Given the description of an element on the screen output the (x, y) to click on. 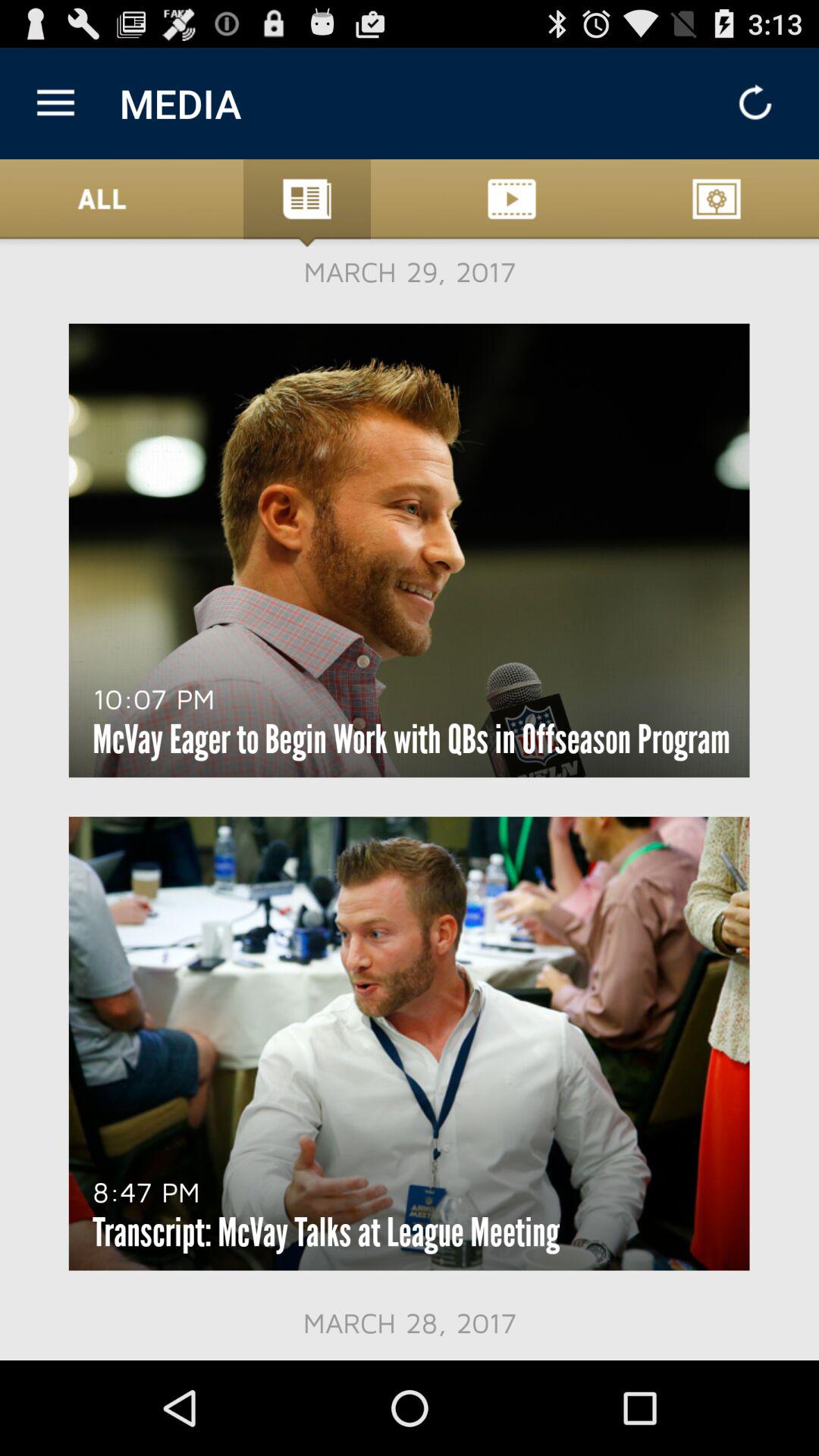
open the item above march 28, 2017 icon (325, 1232)
